Given the description of an element on the screen output the (x, y) to click on. 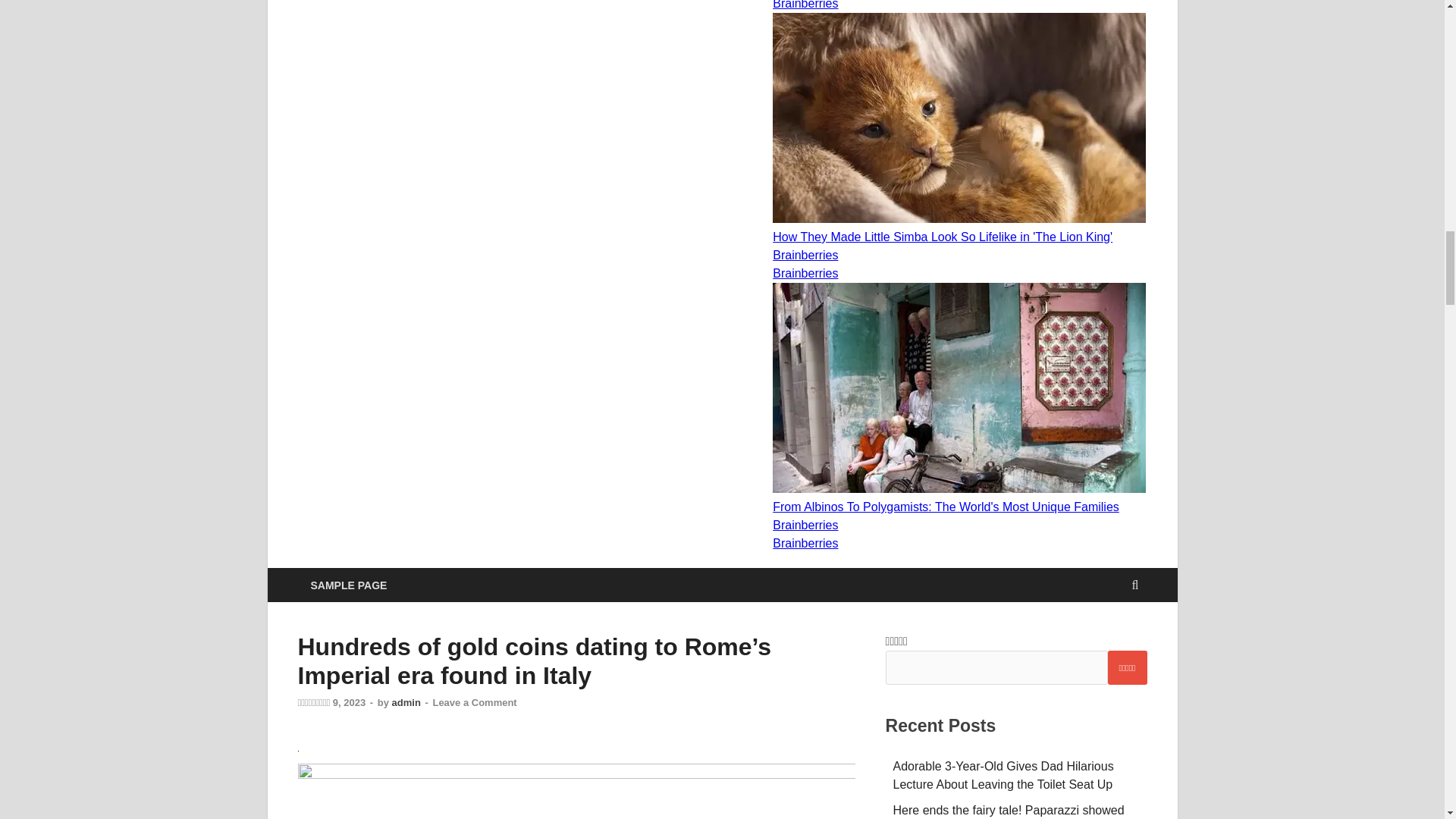
SAMPLE PAGE (347, 584)
admin (405, 702)
Leave a Comment (474, 702)
